Given the description of an element on the screen output the (x, y) to click on. 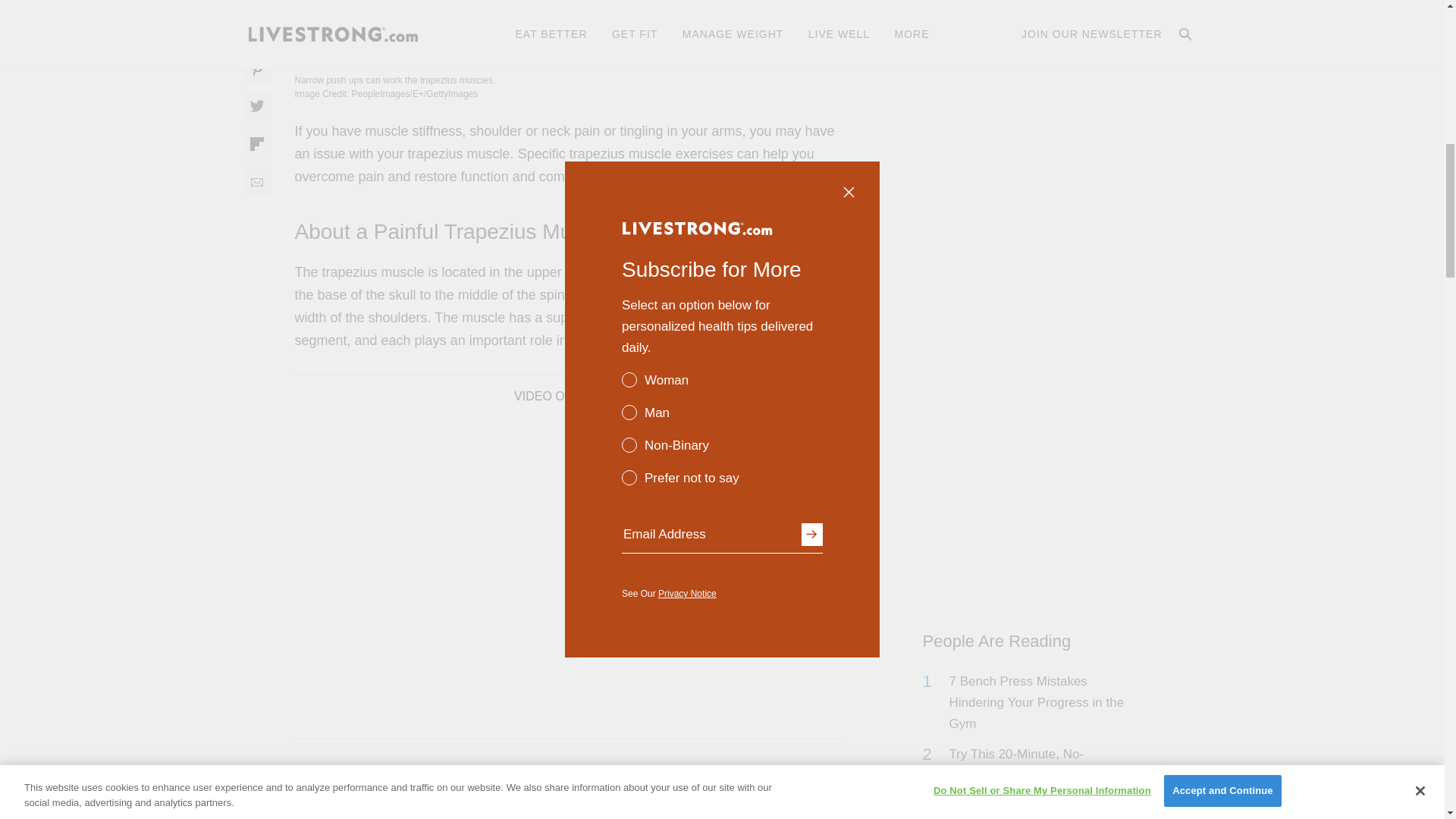
7 Bench Press Mistakes Hindering Your Progress in the Gym (1042, 702)
